Given the description of an element on the screen output the (x, y) to click on. 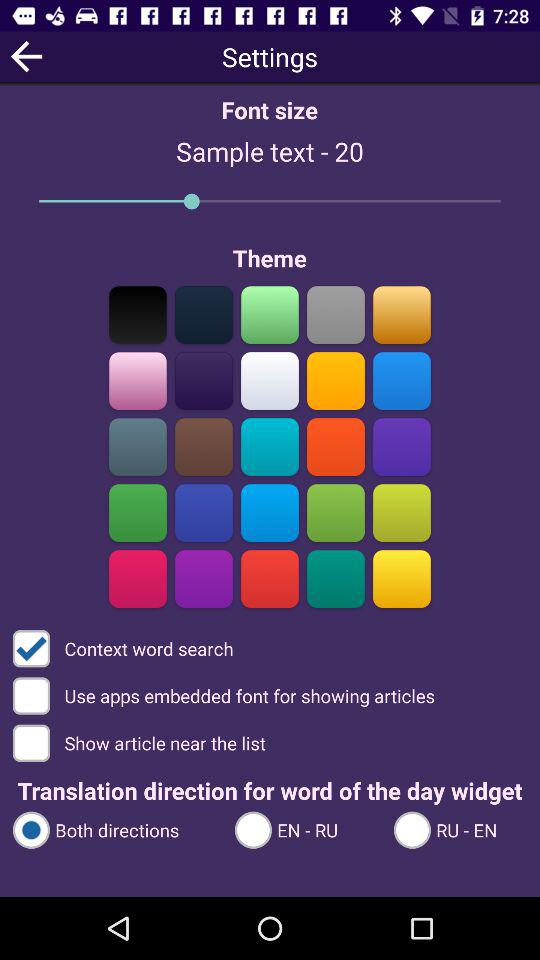
select the color bar (203, 380)
